Given the description of an element on the screen output the (x, y) to click on. 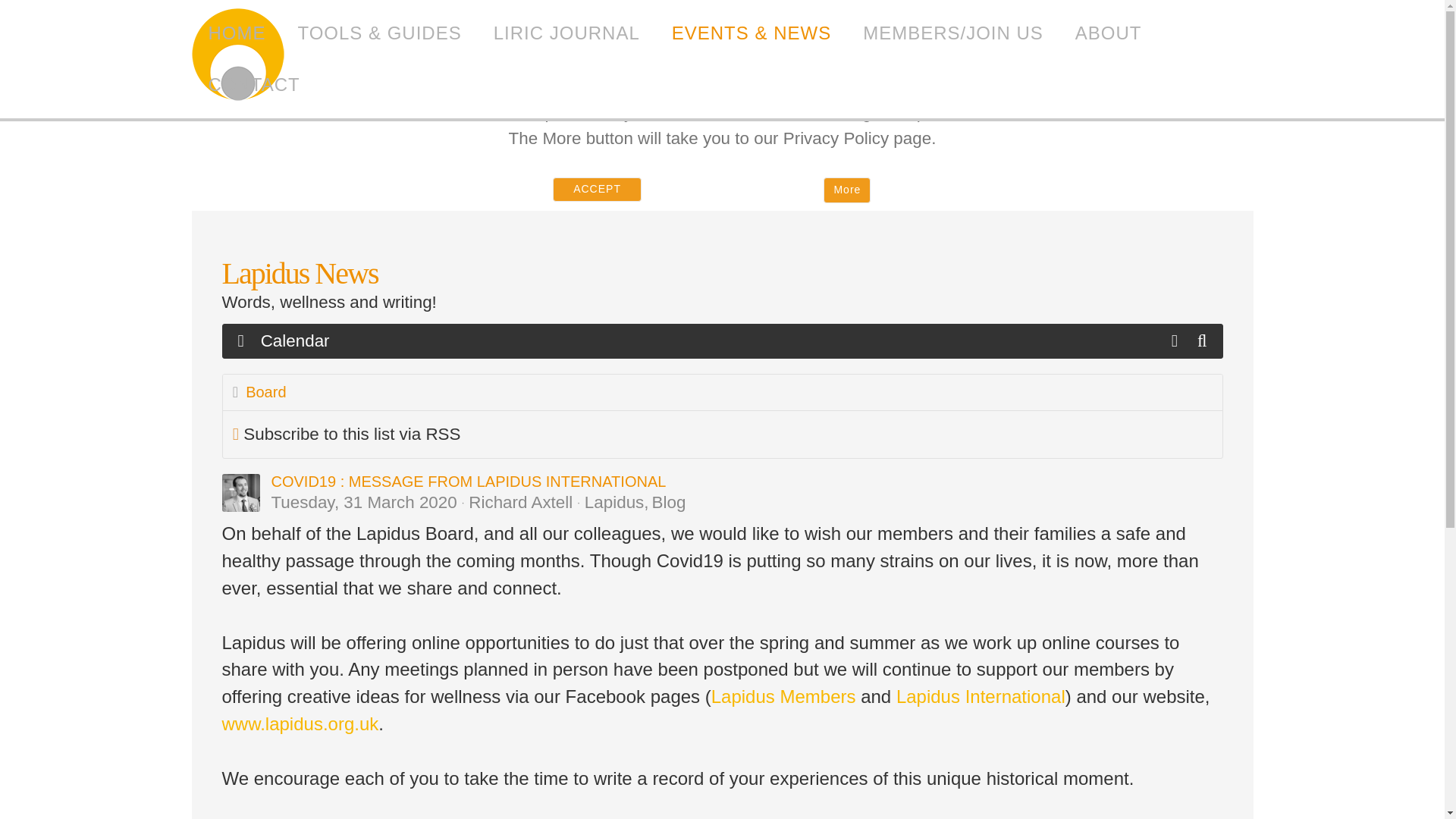
Calendar (295, 341)
LIRIC JOURNAL (566, 32)
Lapidus (237, 57)
ABOUT (1108, 32)
More (847, 190)
CONTACT (252, 84)
HOME (236, 32)
ACCEPT (597, 189)
Subscribe to this list via RSS (351, 434)
